Given the description of an element on the screen output the (x, y) to click on. 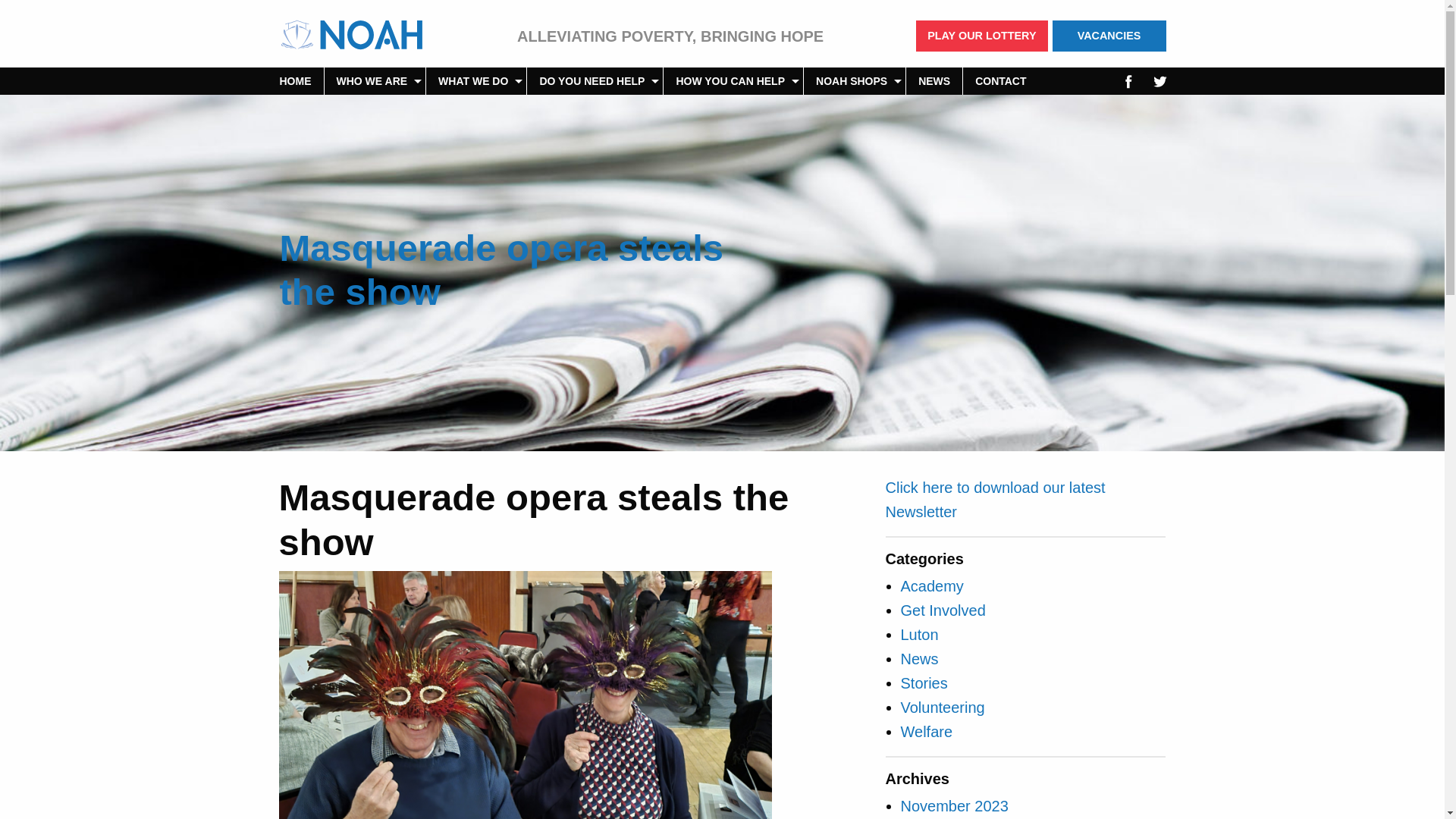
HOME (294, 81)
CONTACT (1000, 81)
NEWS (933, 81)
PLAY OUR LOTTERY (981, 35)
DO YOU NEED HELP (594, 81)
VACANCIES (1109, 35)
WHAT WE DO (475, 81)
HOW YOU CAN HELP (733, 81)
twitter (1160, 81)
facebook (1128, 81)
